Given the description of an element on the screen output the (x, y) to click on. 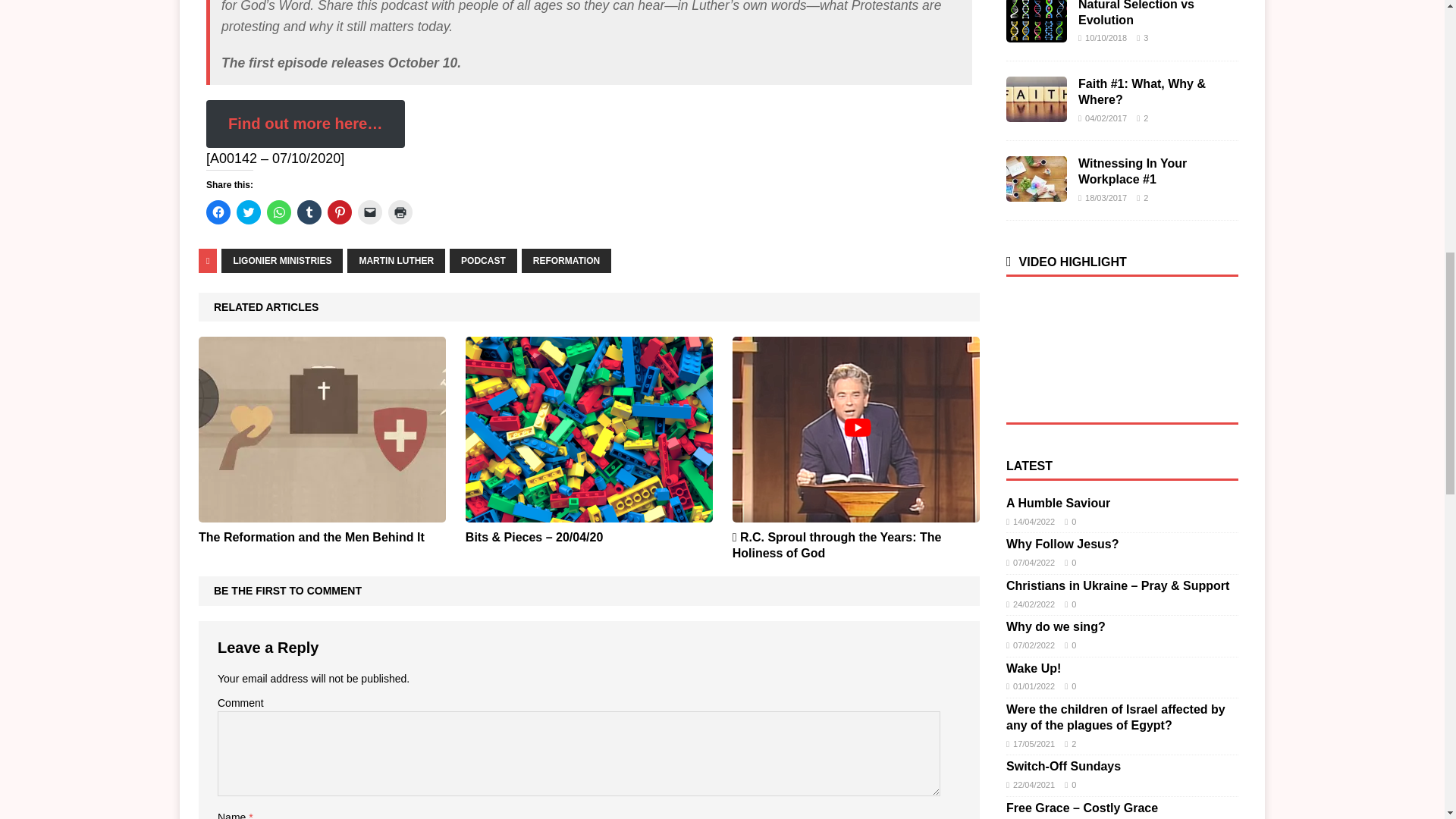
The Reformation and the Men Behind It (321, 512)
Click to share on Facebook (218, 211)
The Reformation and the Men Behind It (311, 536)
Click to share on WhatsApp (278, 211)
Click to share on Twitter (247, 211)
Click to share on Tumblr (309, 211)
Click to share on Pinterest (339, 211)
Click to print (400, 211)
Click to email a link to a friend (369, 211)
 R.C. Sproul through the Years: The Holiness of God (855, 512)
